Given the description of an element on the screen output the (x, y) to click on. 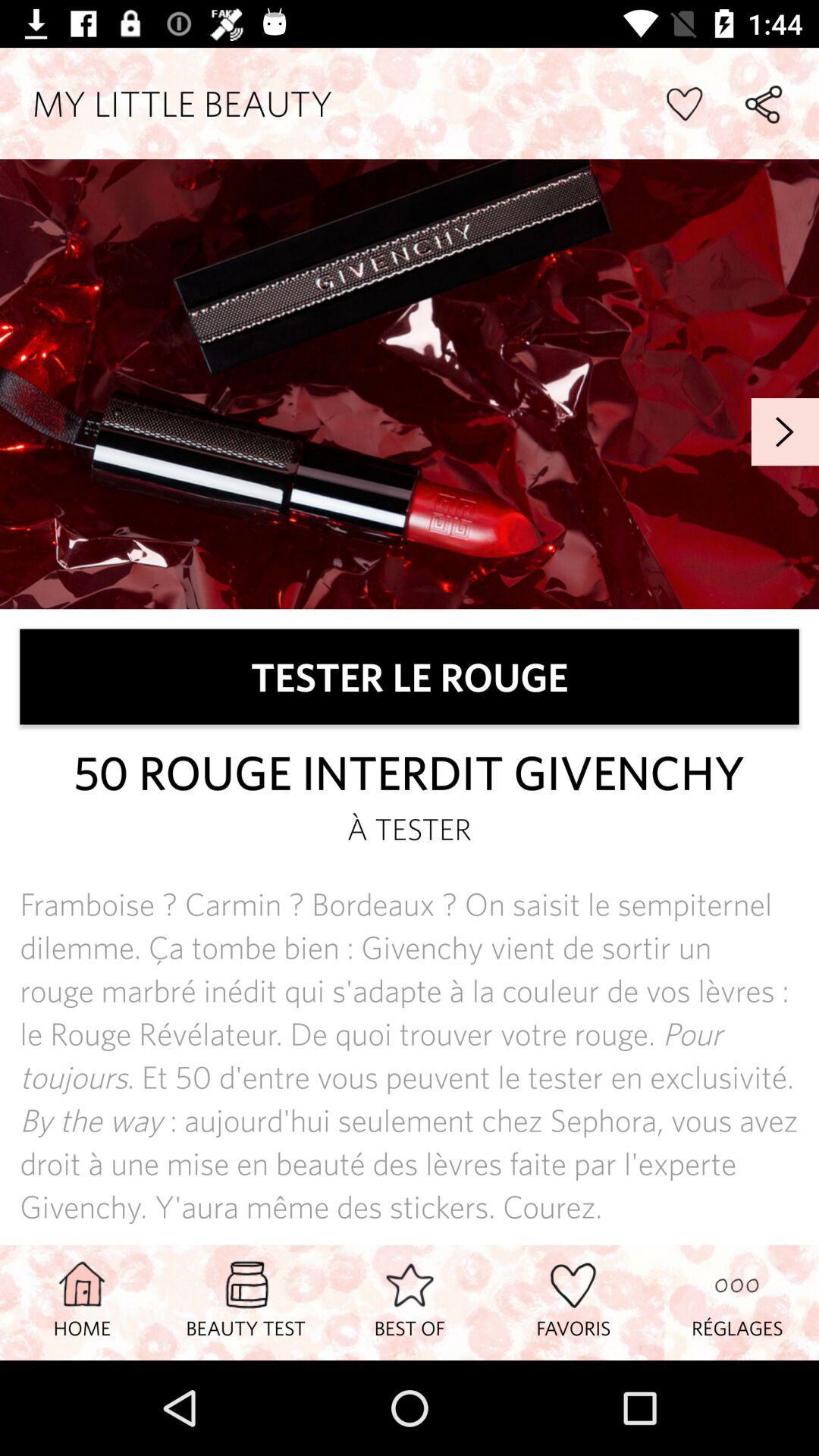
favorite page (683, 103)
